Given the description of an element on the screen output the (x, y) to click on. 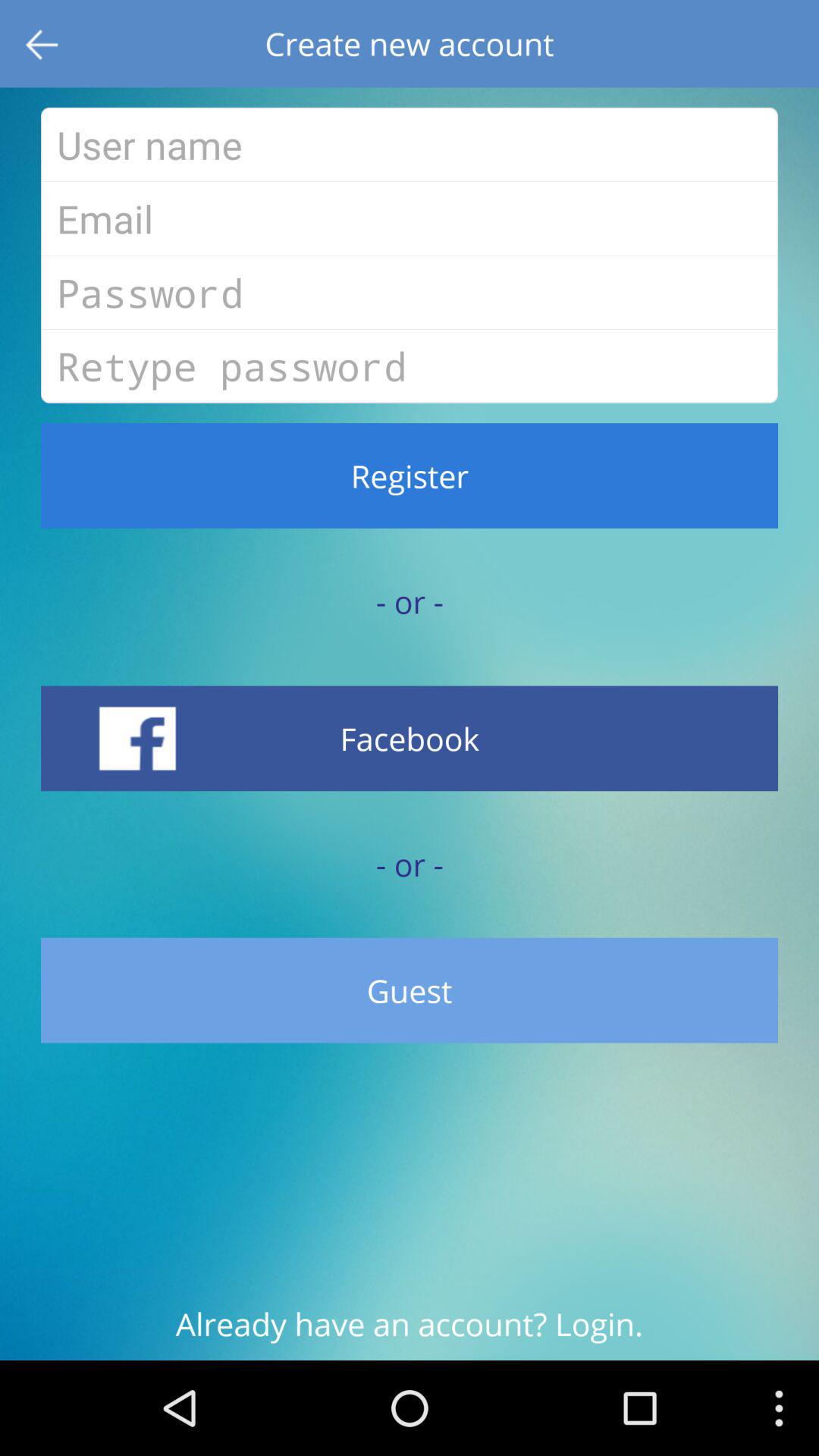
enter your password (409, 292)
